Given the description of an element on the screen output the (x, y) to click on. 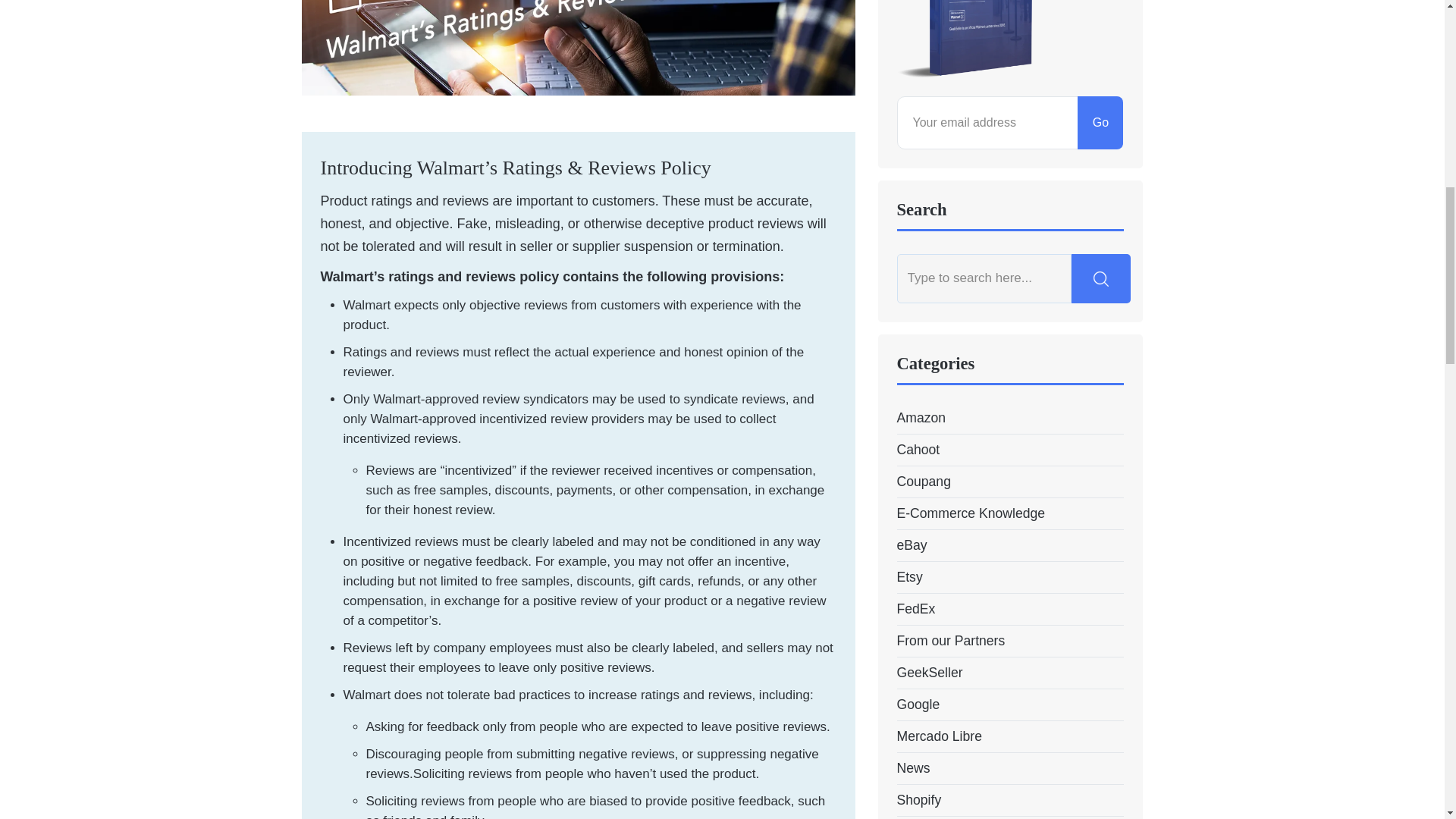
Etsy (908, 577)
Amazon (920, 417)
FedEx (915, 608)
Cahoot (917, 449)
From our Partners (950, 640)
News (913, 768)
Google (917, 704)
Mercado Libre (938, 736)
E-Commerce Knowledge (970, 513)
GeekSeller (929, 672)
Coupang (923, 481)
eBay (911, 545)
Shopify (918, 800)
